Given the description of an element on the screen output the (x, y) to click on. 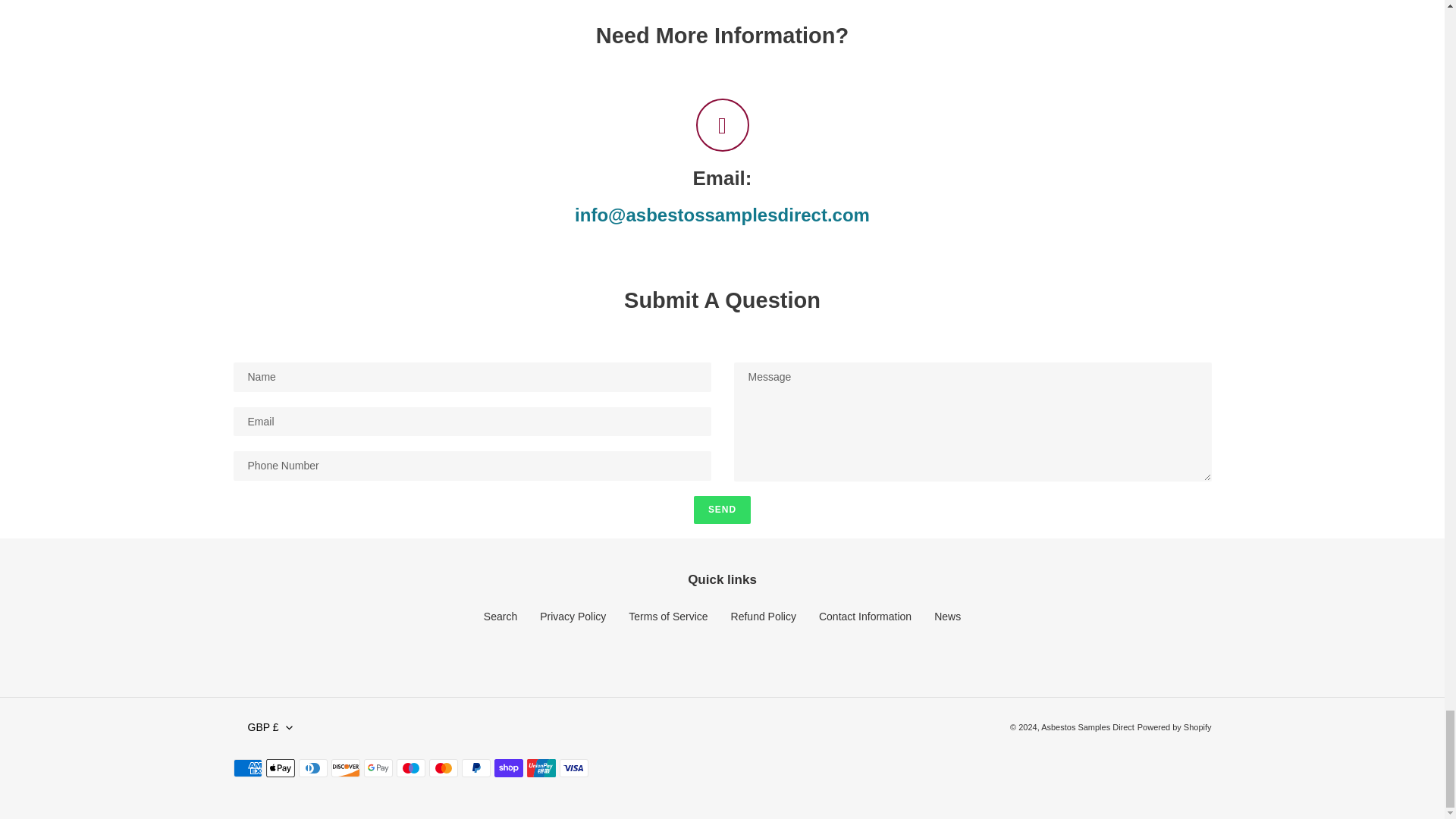
Privacy Policy (572, 616)
Refund Policy (763, 616)
Search (499, 616)
Contact Information (864, 616)
Send (722, 509)
News (947, 616)
Send (722, 509)
Terms of Service (667, 616)
